Given the description of an element on the screen output the (x, y) to click on. 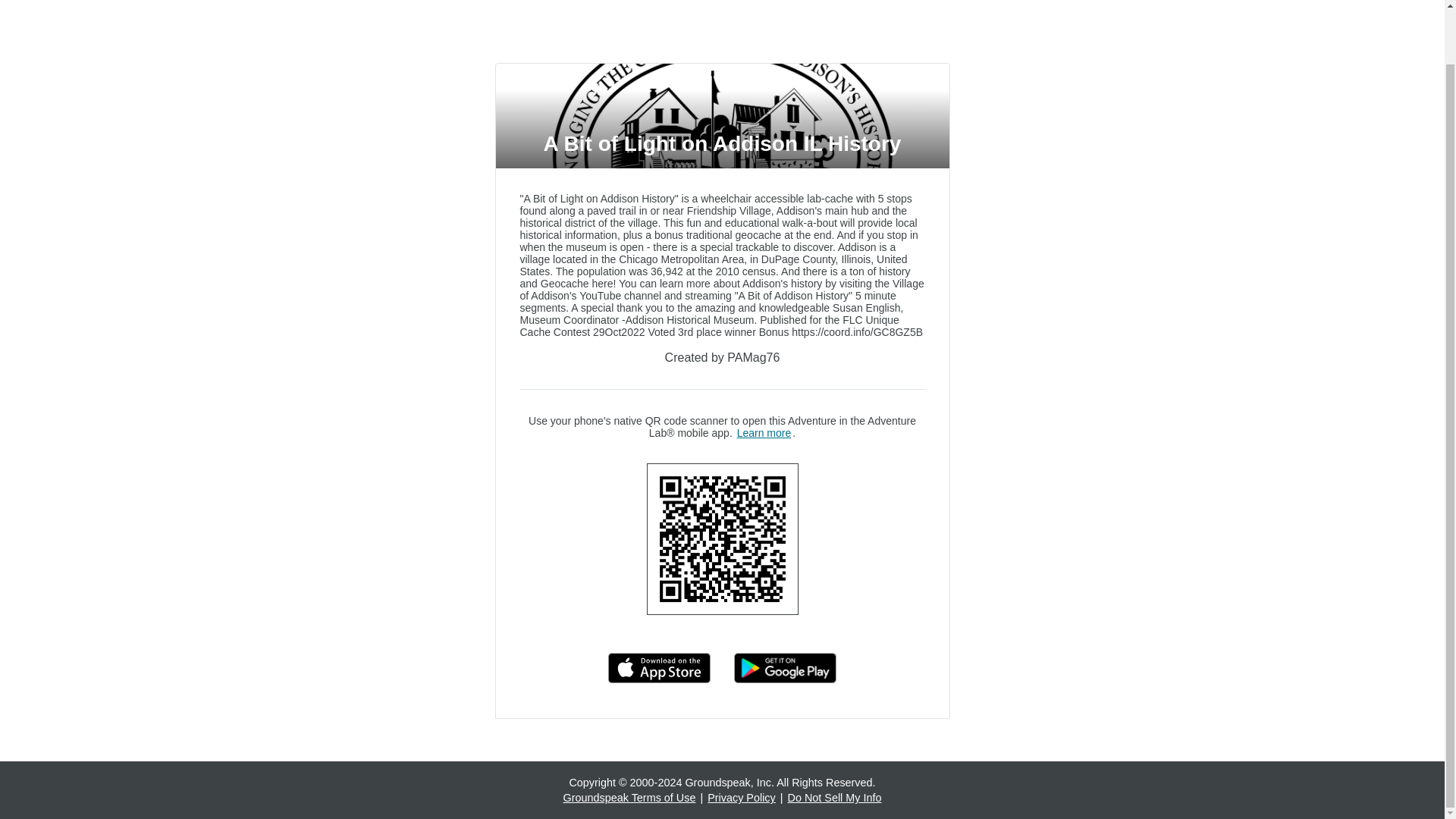
Do Not Sell My Info (834, 797)
Groundspeak Terms of Use (629, 797)
Do Not Sell My Info (834, 797)
Learn more (764, 432)
Groundspeak Terms of Use (629, 797)
Privacy Policy (741, 797)
Privacy Policy (741, 797)
